Given the description of an element on the screen output the (x, y) to click on. 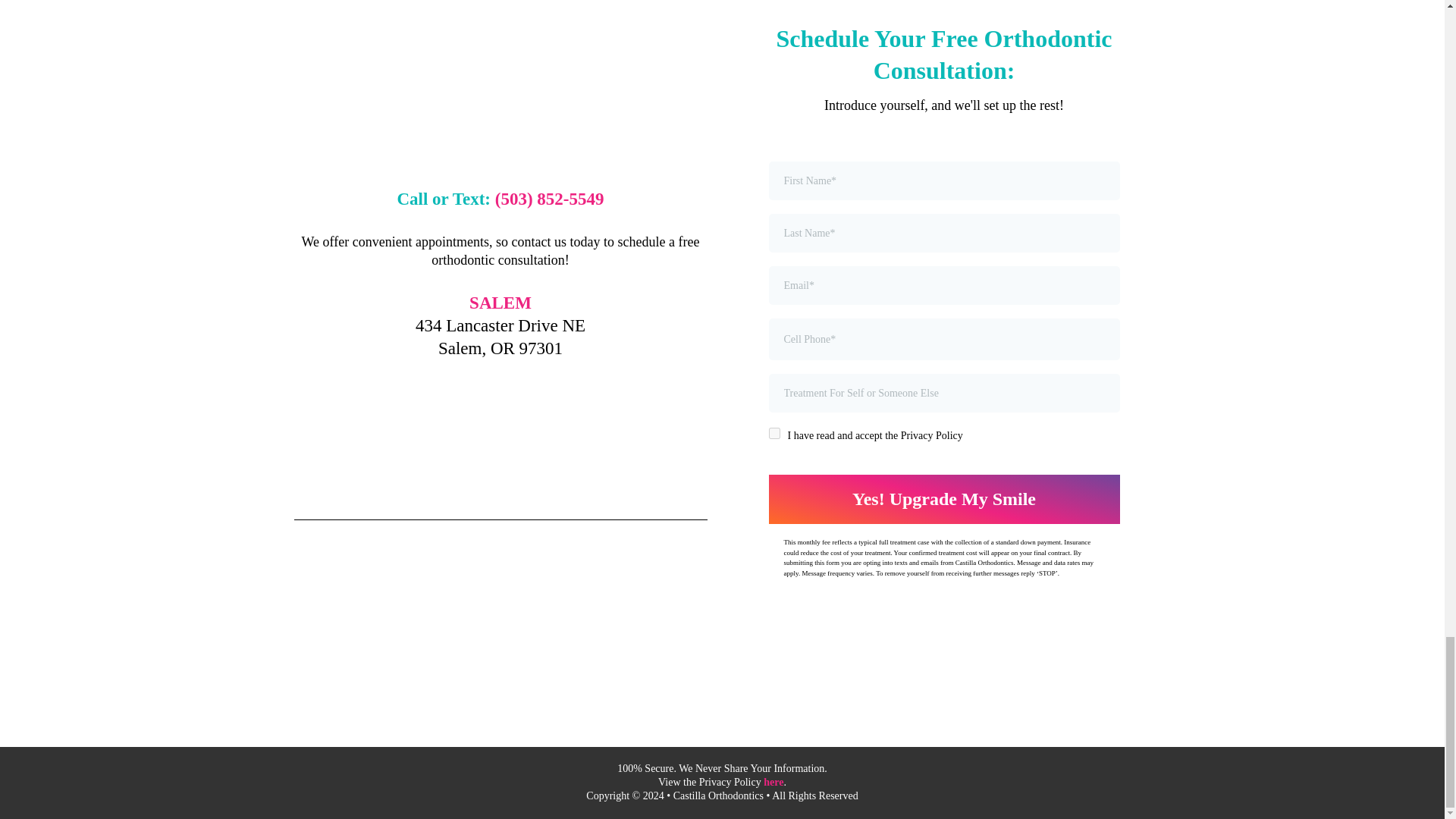
here (772, 781)
I have read and accept the Privacy Policy (774, 432)
Yes! Upgrade My Smile (943, 499)
